Given the description of an element on the screen output the (x, y) to click on. 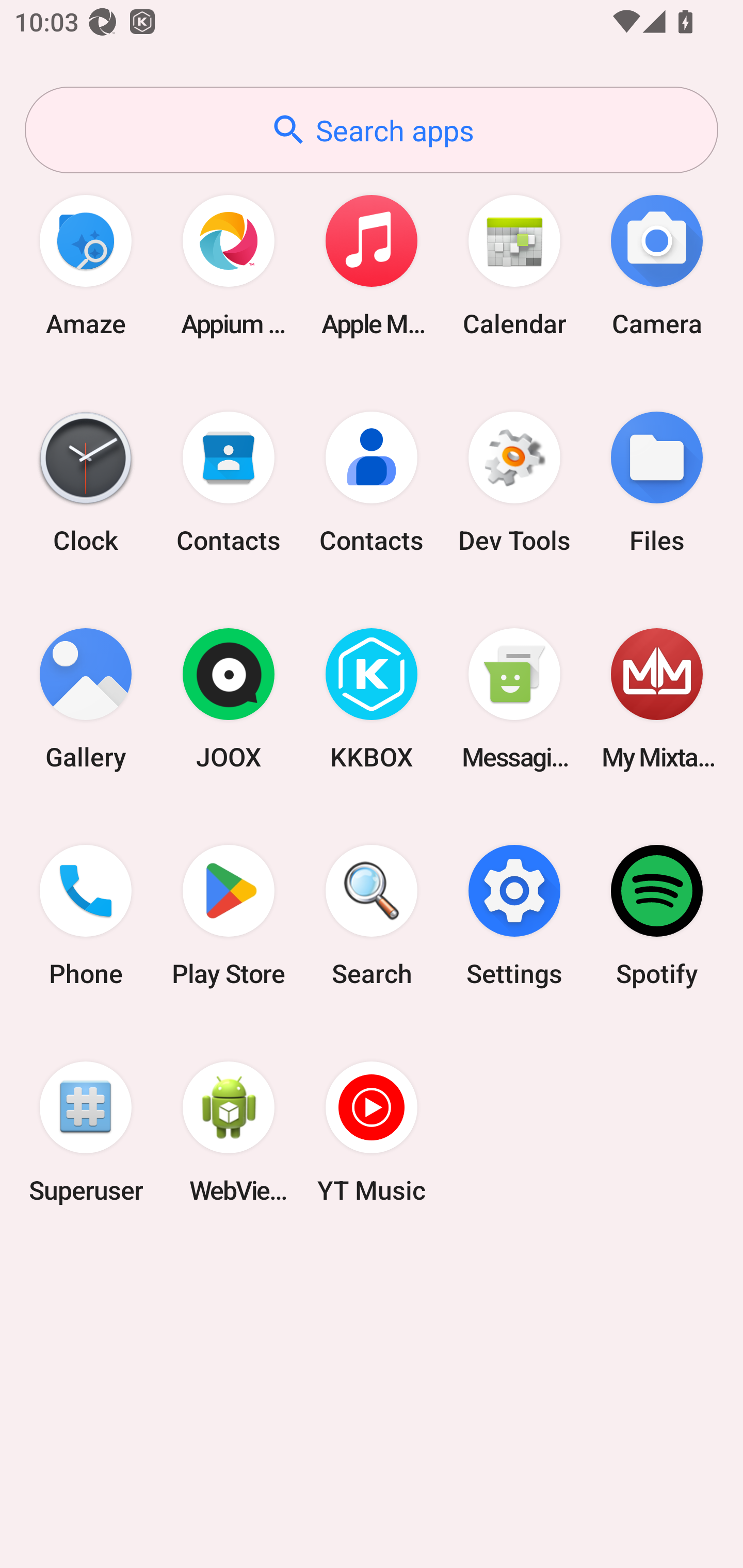
  Search apps (371, 130)
Amaze (85, 264)
Appium Settings (228, 264)
Apple Music (371, 264)
Calendar (514, 264)
Camera (656, 264)
Clock (85, 482)
Contacts (228, 482)
Contacts (371, 482)
Dev Tools (514, 482)
Files (656, 482)
Gallery (85, 699)
JOOX (228, 699)
KKBOX (371, 699)
Messaging (514, 699)
My Mixtapez (656, 699)
Phone (85, 915)
Play Store (228, 915)
Search (371, 915)
Settings (514, 915)
Spotify (656, 915)
Superuser (85, 1131)
WebView Browser Tester (228, 1131)
YT Music (371, 1131)
